Given the description of an element on the screen output the (x, y) to click on. 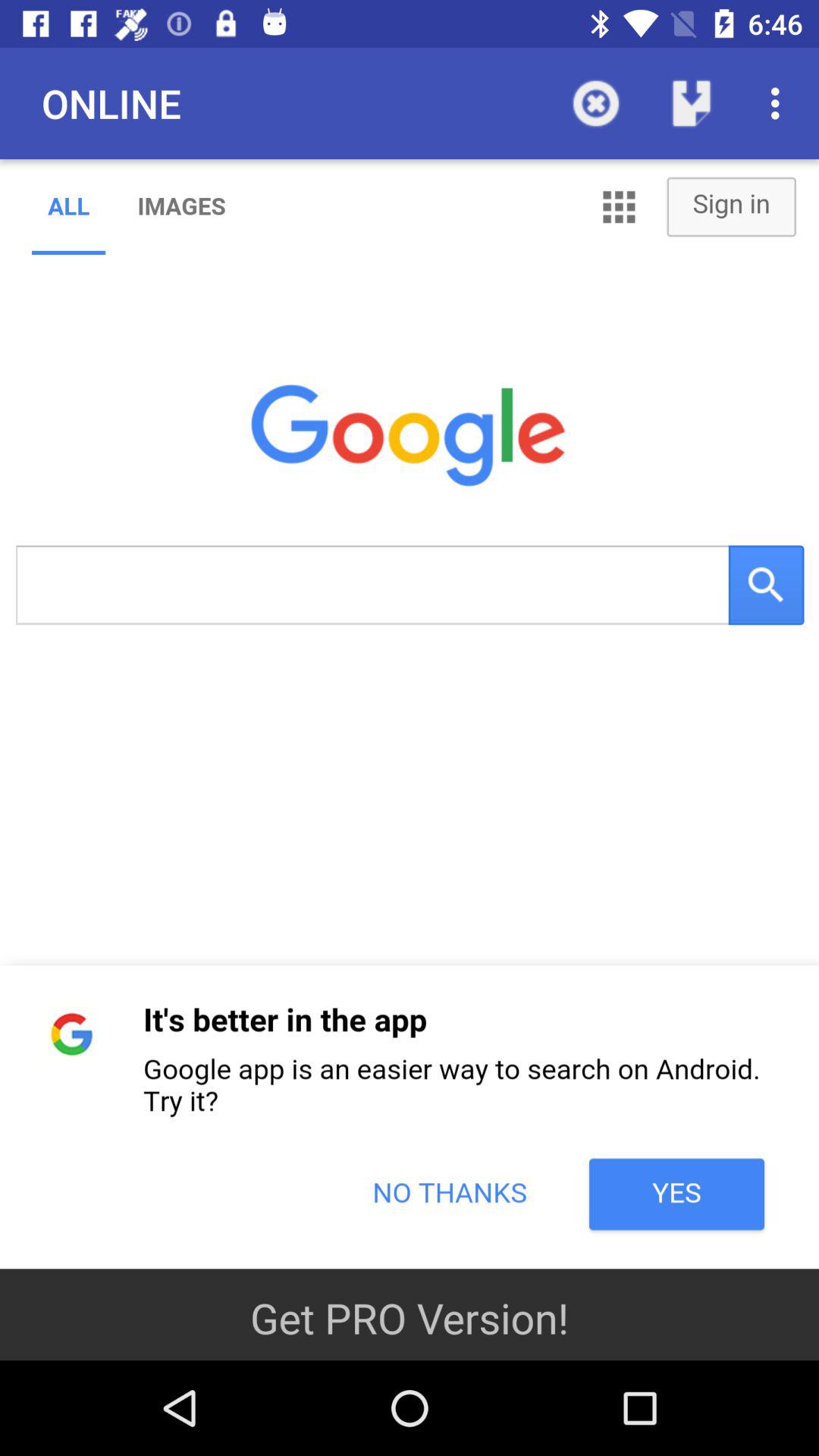
google homepage (409, 713)
